Given the description of an element on the screen output the (x, y) to click on. 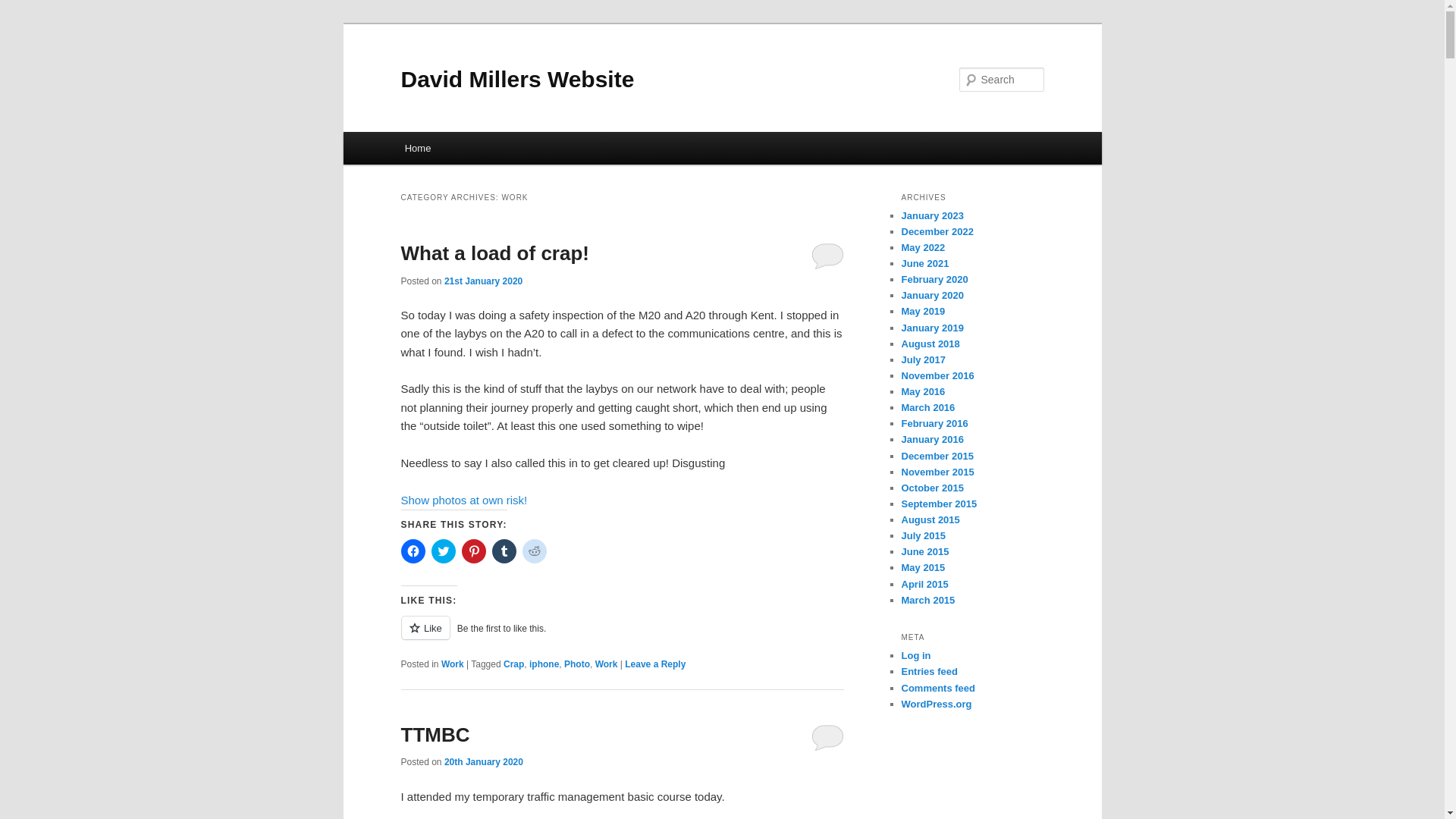
Leave a Reply (654, 664)
TTMBC (434, 734)
Work (452, 664)
20th January 2020 (483, 761)
Click to share on Tumblr (503, 550)
Click to share on Twitter (442, 550)
Click to share on Reddit (533, 550)
Photo (576, 664)
Search (24, 8)
Home (417, 147)
Crap (513, 664)
Work (606, 664)
Show photos at own risk! (463, 499)
21st January 2020 (483, 281)
